Given the description of an element on the screen output the (x, y) to click on. 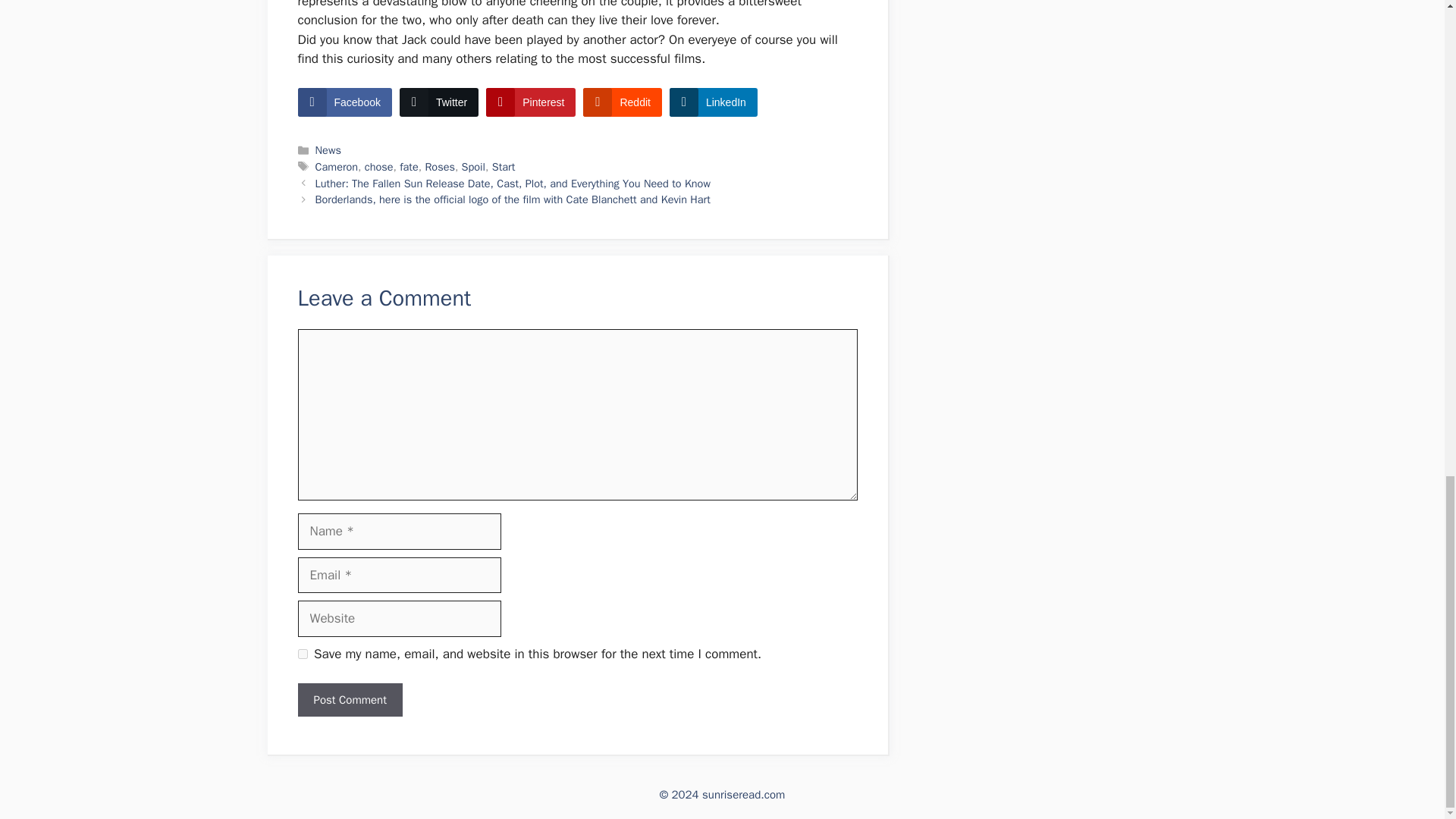
Roses (439, 166)
Facebook (344, 102)
yes (302, 654)
Cameron (336, 166)
chose (379, 166)
Spoil (472, 166)
Post Comment (349, 700)
Start (503, 166)
LinkedIn (713, 102)
